Given the description of an element on the screen output the (x, y) to click on. 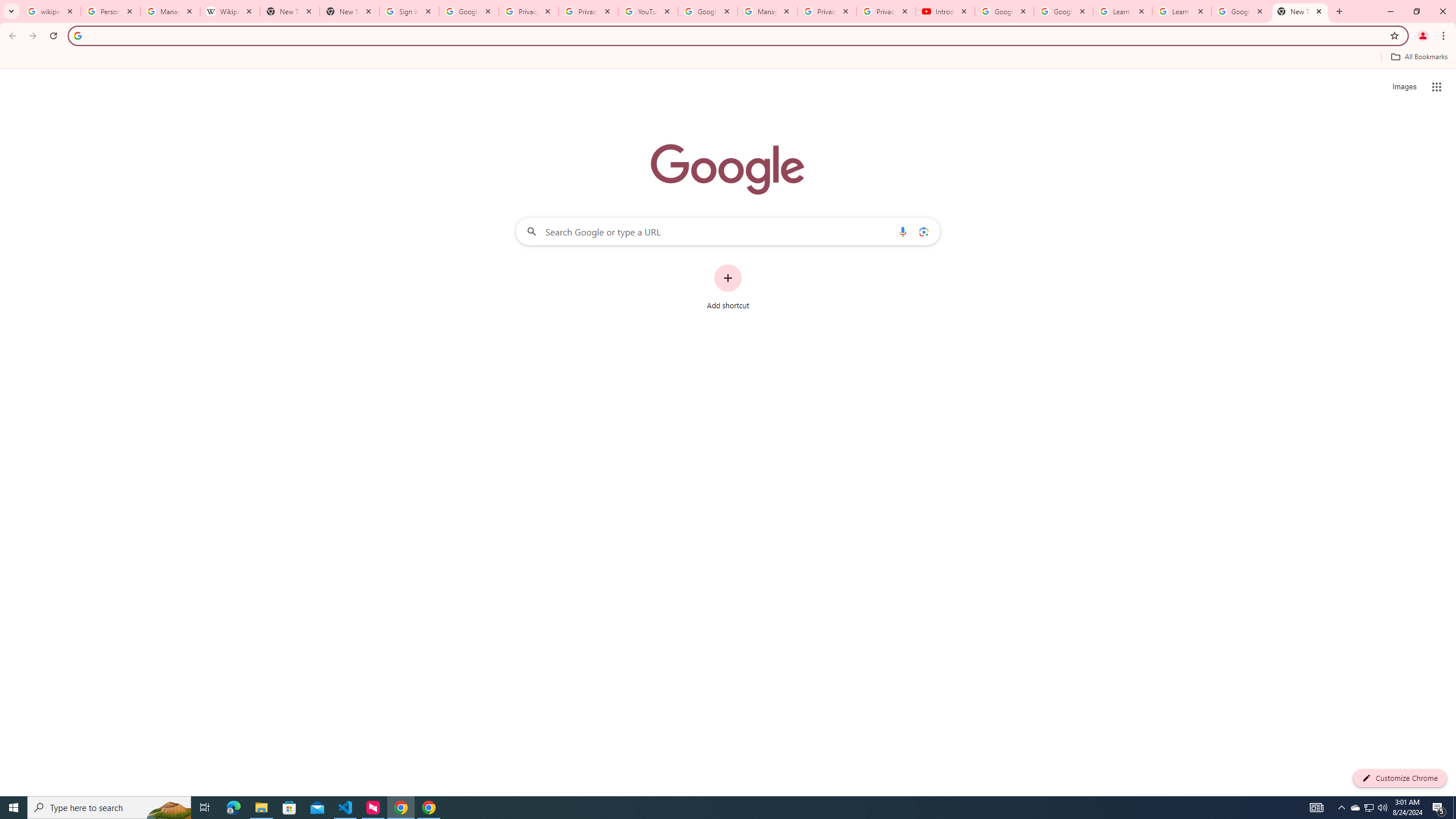
Google Account Help (1063, 11)
